Given the description of an element on the screen output the (x, y) to click on. 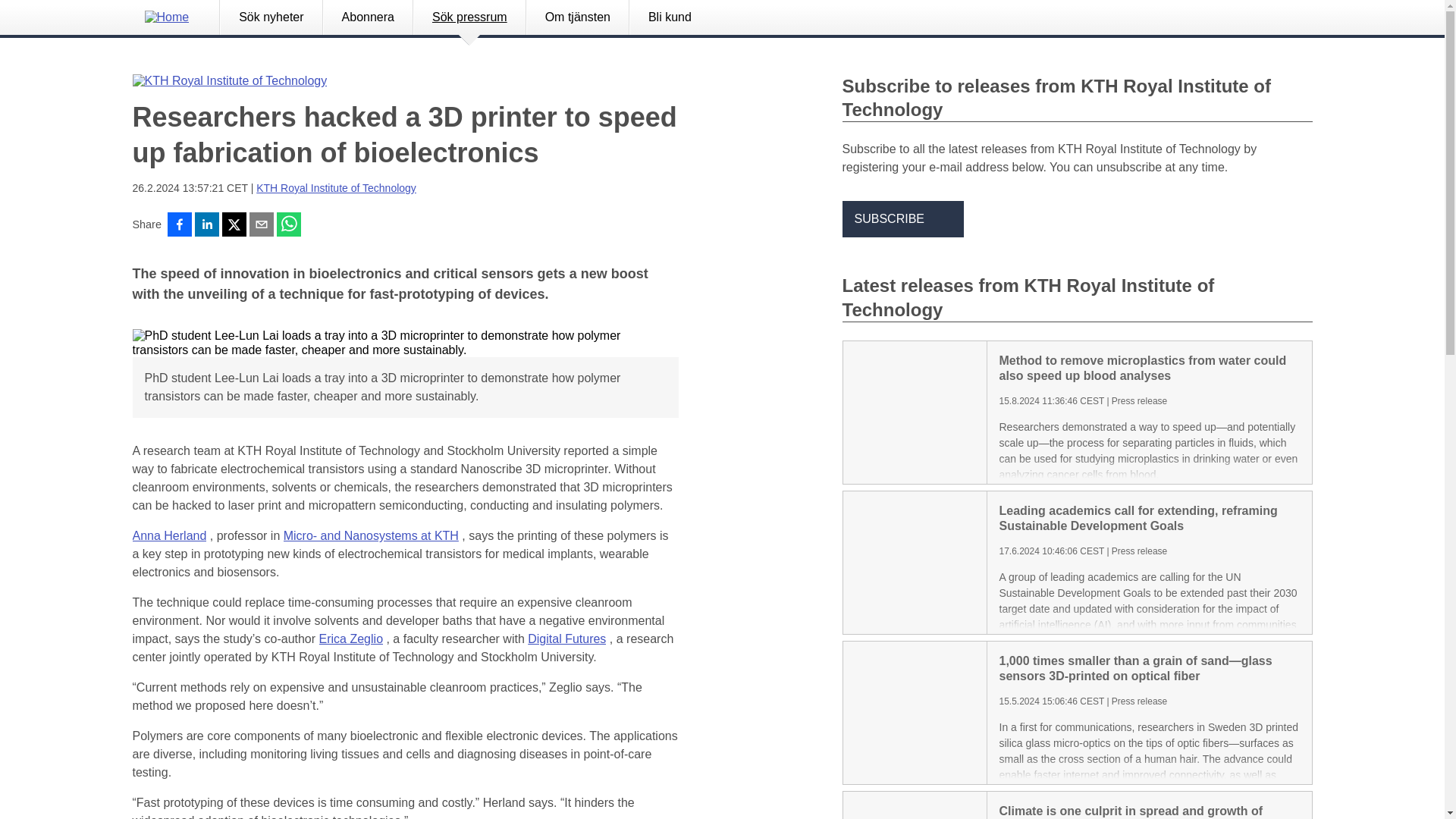
Abonnera (367, 17)
Micro- and Nanosystems at KTH (370, 536)
Digital Futures (566, 638)
Bli kund (670, 17)
Anna Herland (169, 536)
SUBSCRIBE (901, 218)
Erica Zeglio (350, 638)
KTH Royal Institute of Technology (336, 187)
